Given the description of an element on the screen output the (x, y) to click on. 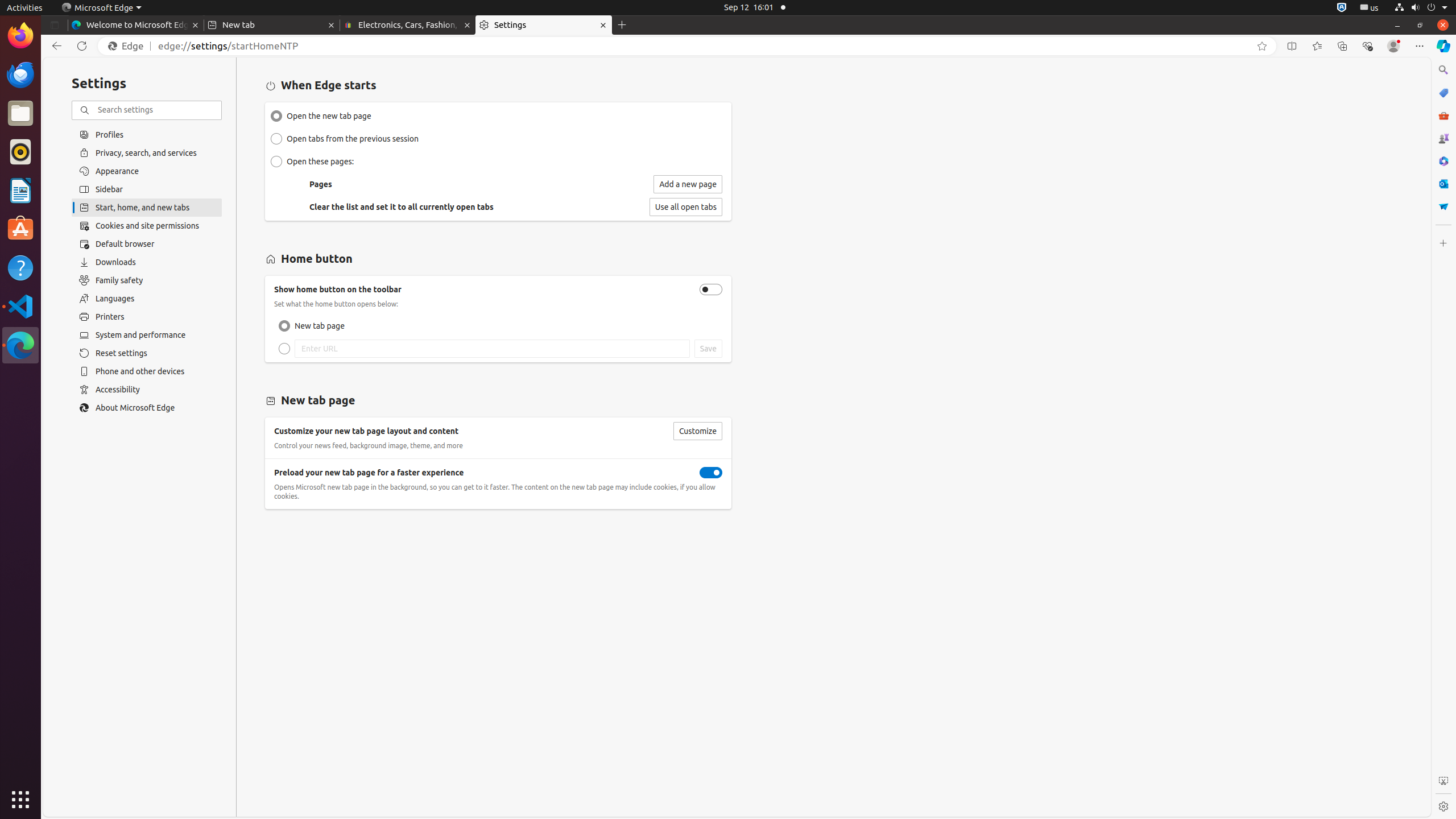
Preload your new tab page for a faster experience Element type: check-box (710, 472)
Languages Element type: tree-item (146, 298)
New tab page Element type: radio-button (284, 325)
System Element type: menu (1420, 7)
Open tabs from the previous session Element type: radio-button (276, 138)
